Given the description of an element on the screen output the (x, y) to click on. 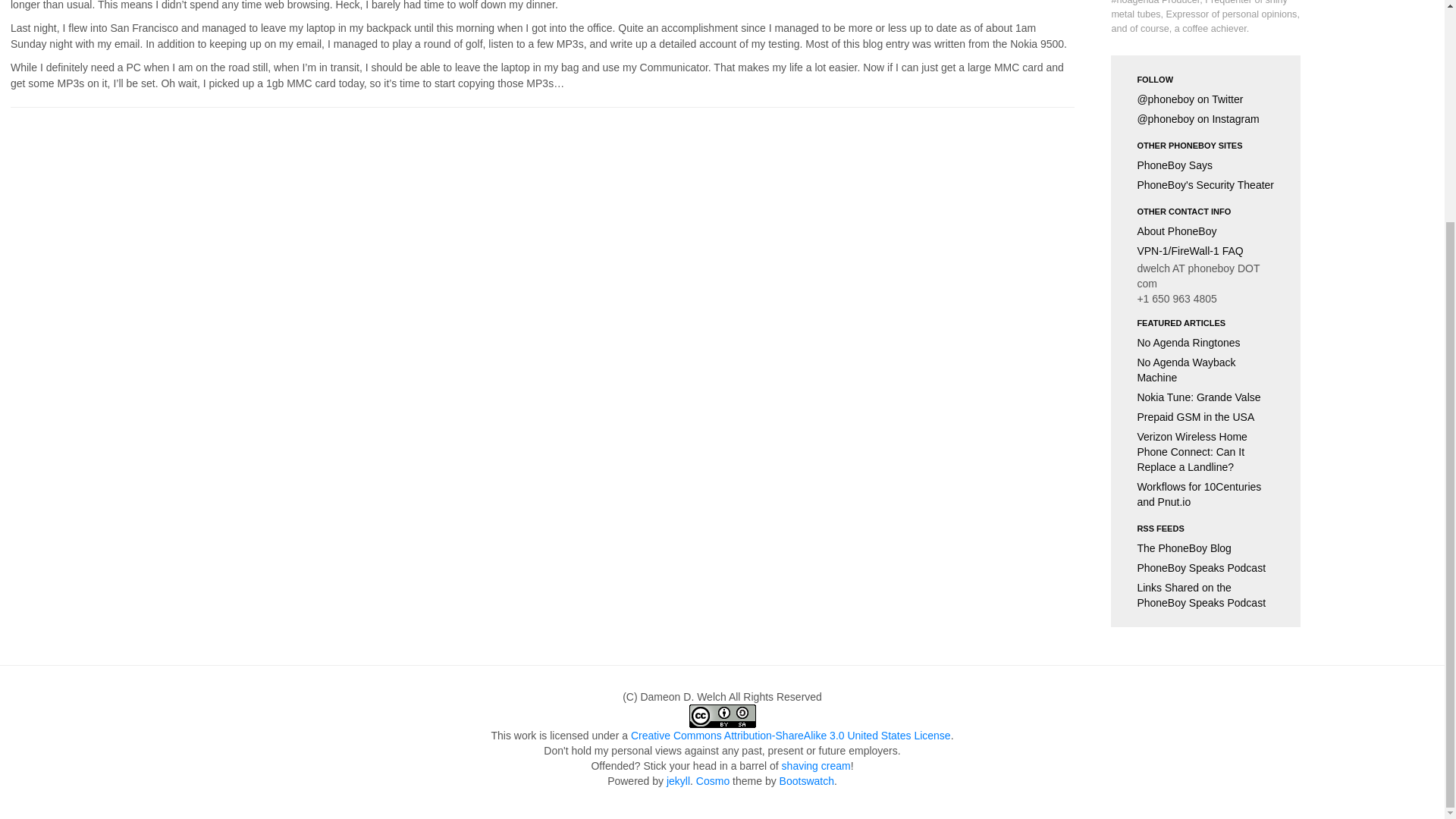
No Agenda Wayback Machine (1205, 369)
Bootswatch (806, 780)
jekyll (678, 780)
Cosmo (712, 780)
PhoneBoy Speaks Podcast (1205, 567)
PhoneBoy Says (1205, 165)
Nokia Tune: Grande Valse (1205, 397)
No Agenda Ringtones (1205, 342)
About PhoneBoy (1205, 230)
Links Shared on the PhoneBoy Speaks Podcast (1205, 595)
The PhoneBoy Blog (1205, 547)
PhoneBoy's Security Theater (1205, 184)
shaving cream (815, 766)
